Given the description of an element on the screen output the (x, y) to click on. 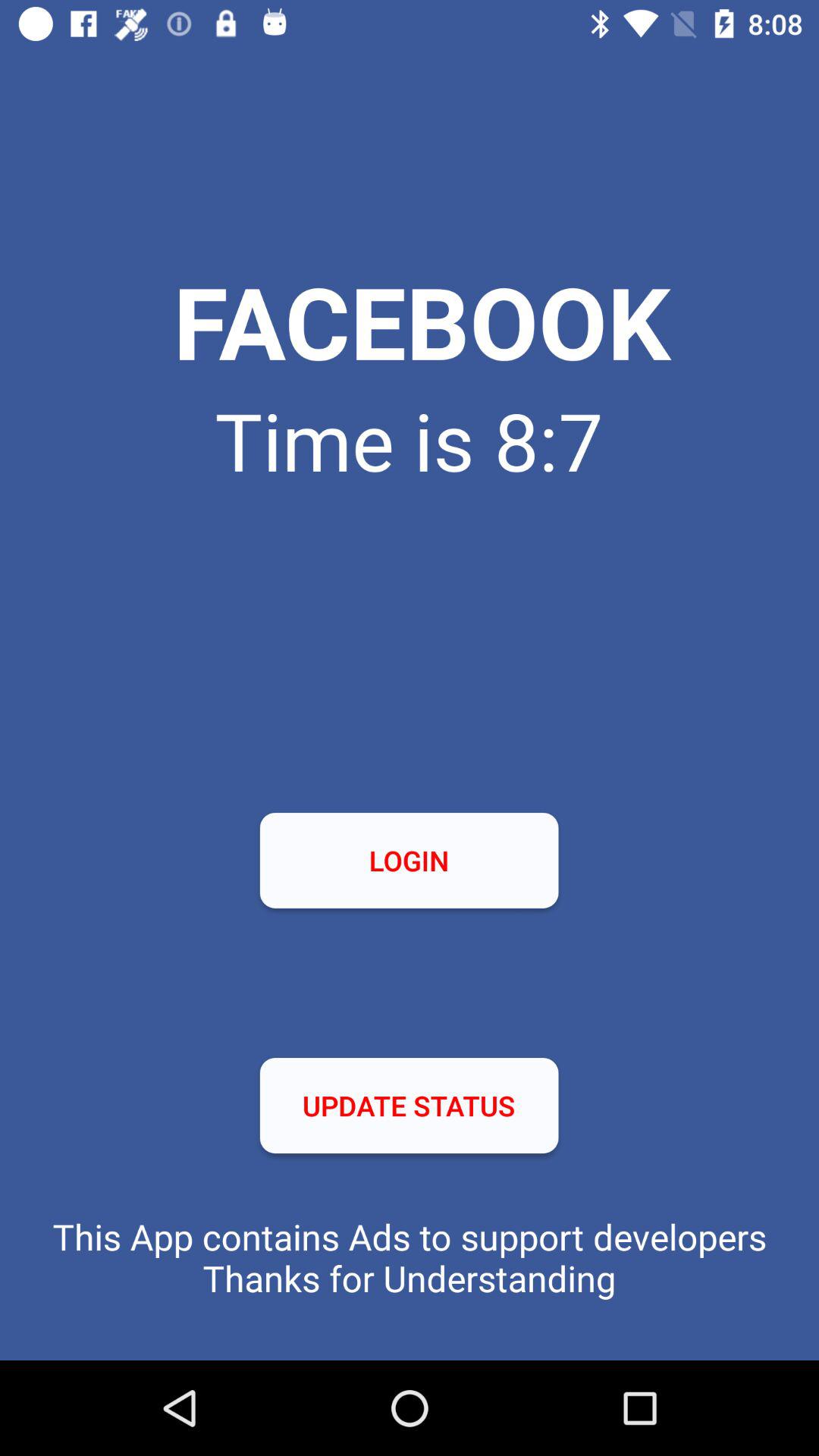
press the app above this app contains item (408, 1105)
